Given the description of an element on the screen output the (x, y) to click on. 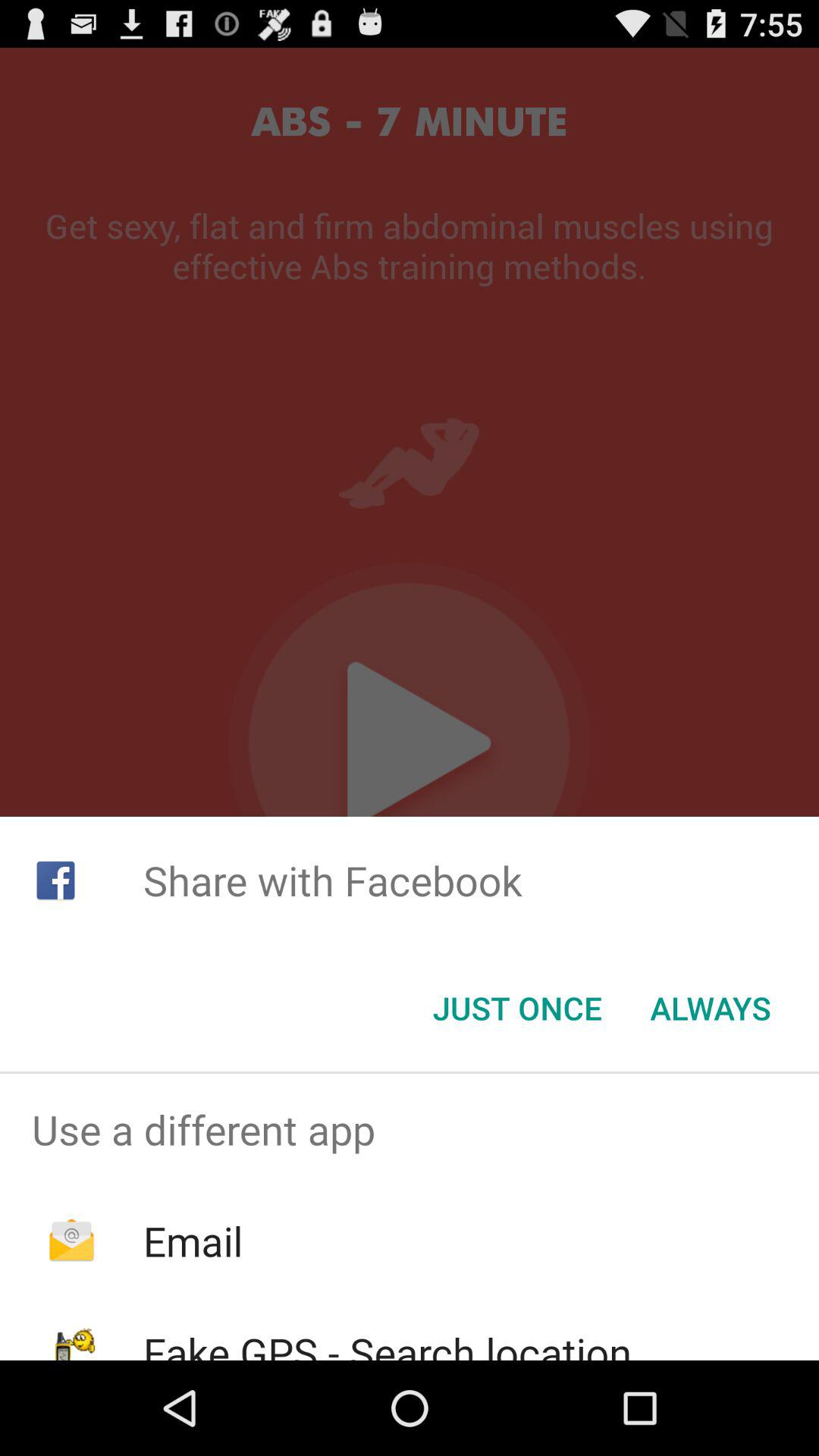
tap just once button (517, 1007)
